Given the description of an element on the screen output the (x, y) to click on. 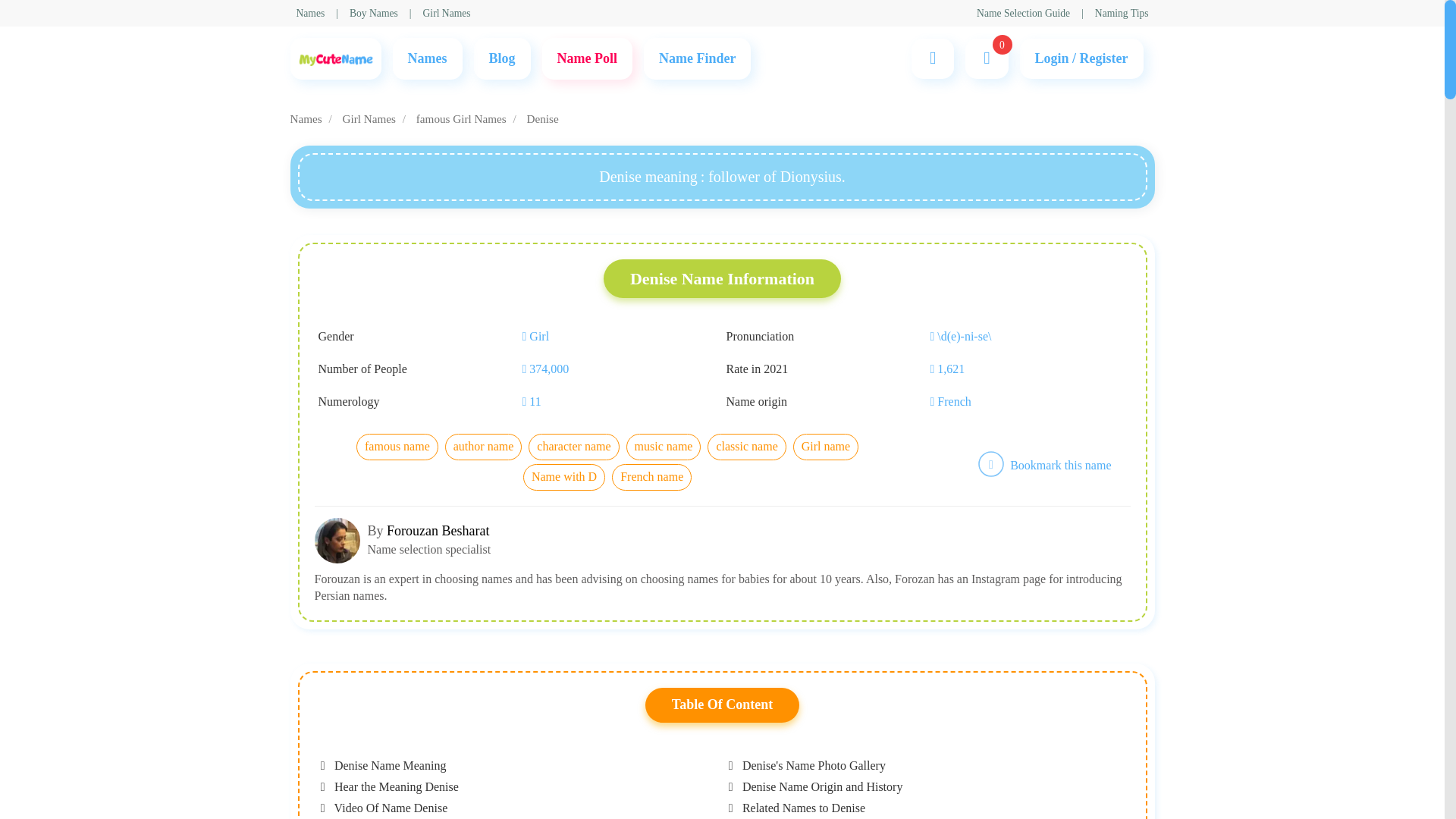
Latin boy's name (509, 254)
Boy Names (373, 12)
English girl's name (515, 254)
American girl's name (520, 254)
Boy names (532, 254)
Girl names (532, 258)
English boy's name (515, 254)
American girl's name (520, 254)
Name Finder (697, 58)
American boy's name (520, 254)
Indian boy's name (512, 254)
Name Selection Guide (1023, 12)
Names (309, 12)
Greek boy's name (512, 254)
Names (426, 58)
